Given the description of an element on the screen output the (x, y) to click on. 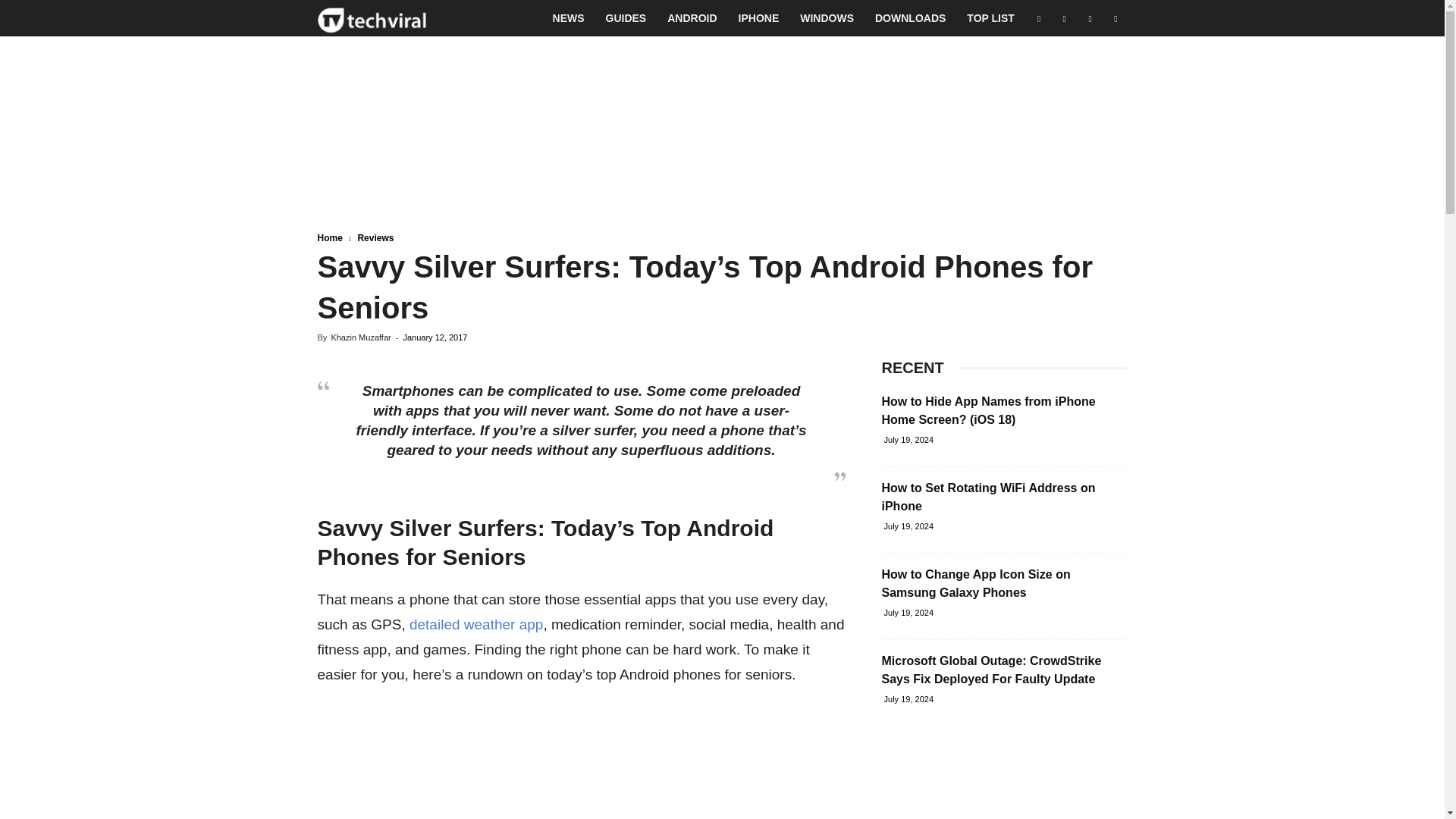
TOP LIST (990, 18)
detailed weather app (476, 624)
IPHONE (759, 18)
DOWNLOADS (910, 18)
GUIDES (626, 18)
WINDOWS (826, 18)
Khazin Muzaffar (360, 337)
Tech Viral (371, 18)
Home (329, 237)
ANDROID (691, 18)
TechViral (371, 18)
NEWS (568, 18)
